Given the description of an element on the screen output the (x, y) to click on. 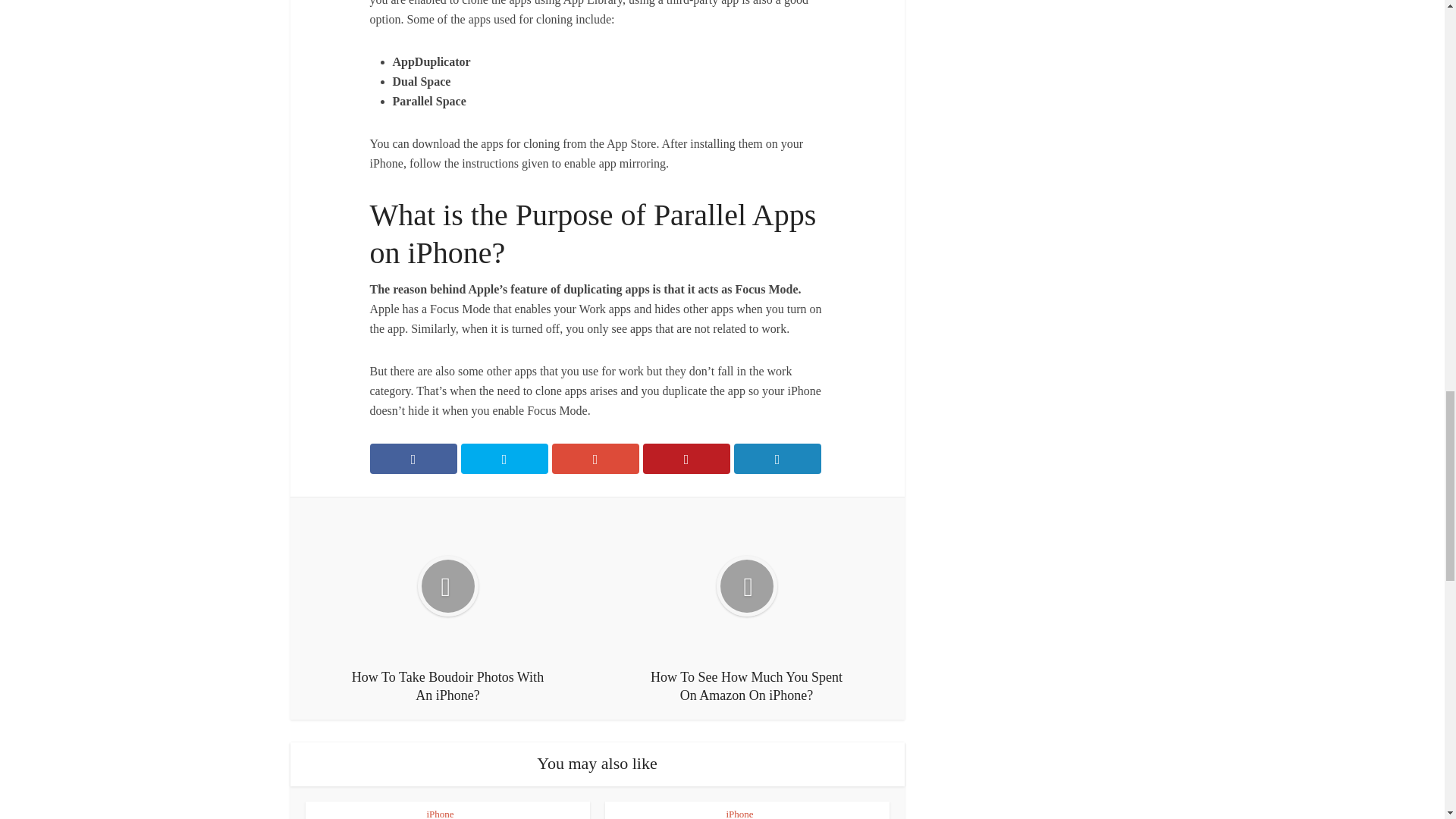
iPhone (740, 813)
How To Take Boudoir Photos With An iPhone? (447, 608)
How To See How Much You Spent On Amazon On iPhone? (746, 608)
iPhone (439, 813)
